Given the description of an element on the screen output the (x, y) to click on. 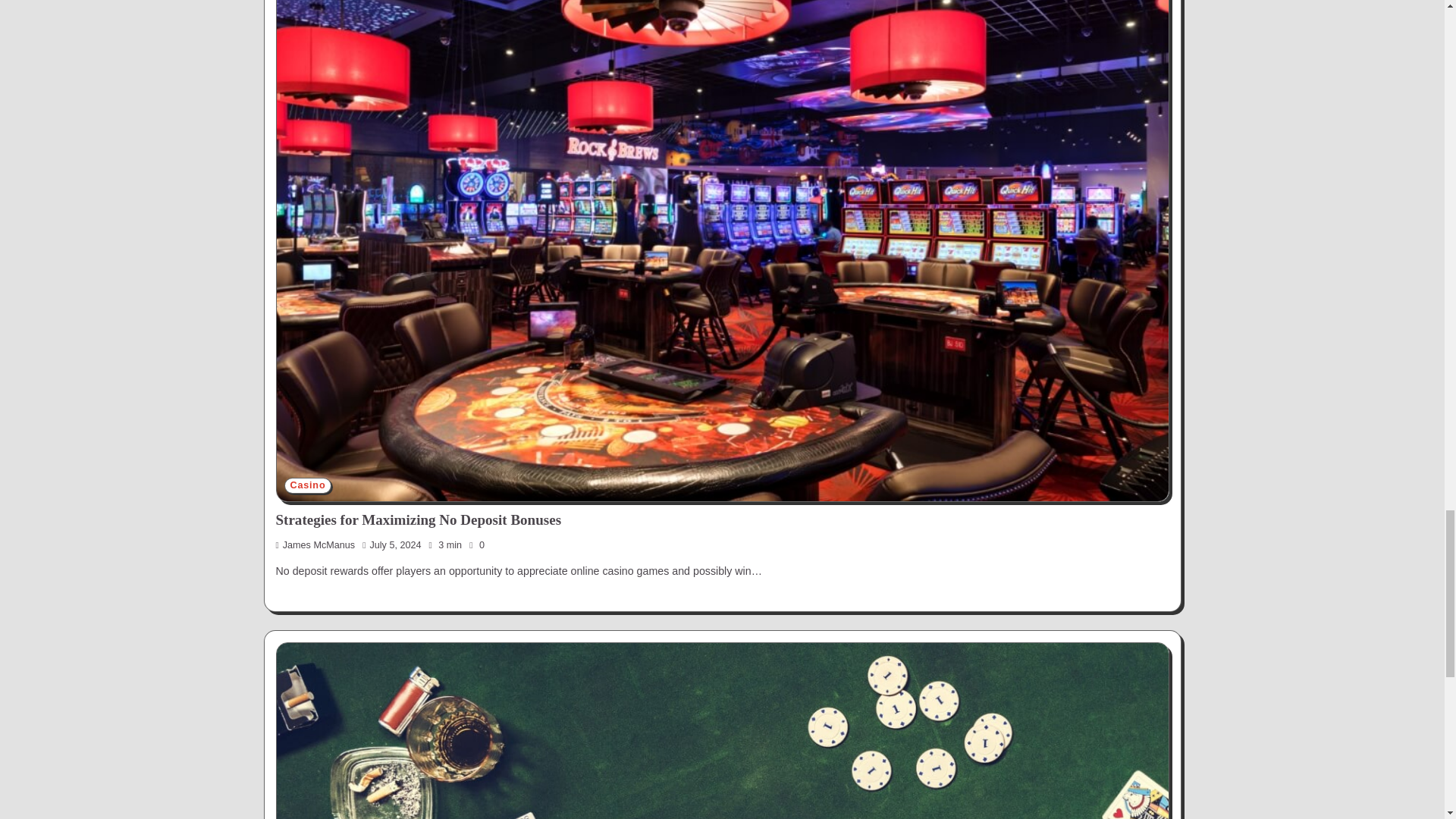
Casino (307, 485)
Strategies for Maximizing No Deposit Bonuses (419, 519)
James McManus (315, 544)
